Given the description of an element on the screen output the (x, y) to click on. 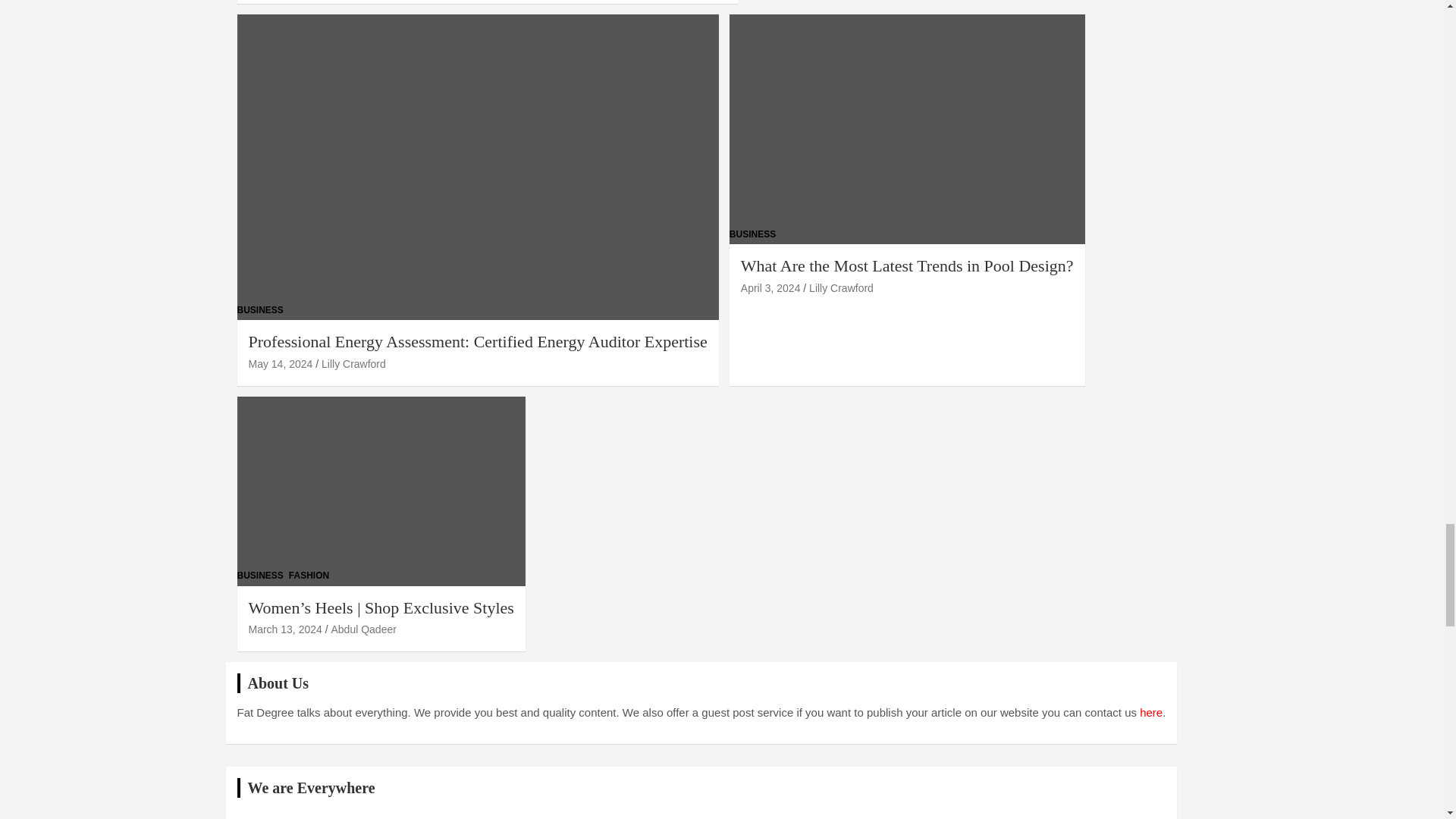
What Are the Most Latest Trends in Pool Design? (770, 287)
Facebook (372, 814)
